Given the description of an element on the screen output the (x, y) to click on. 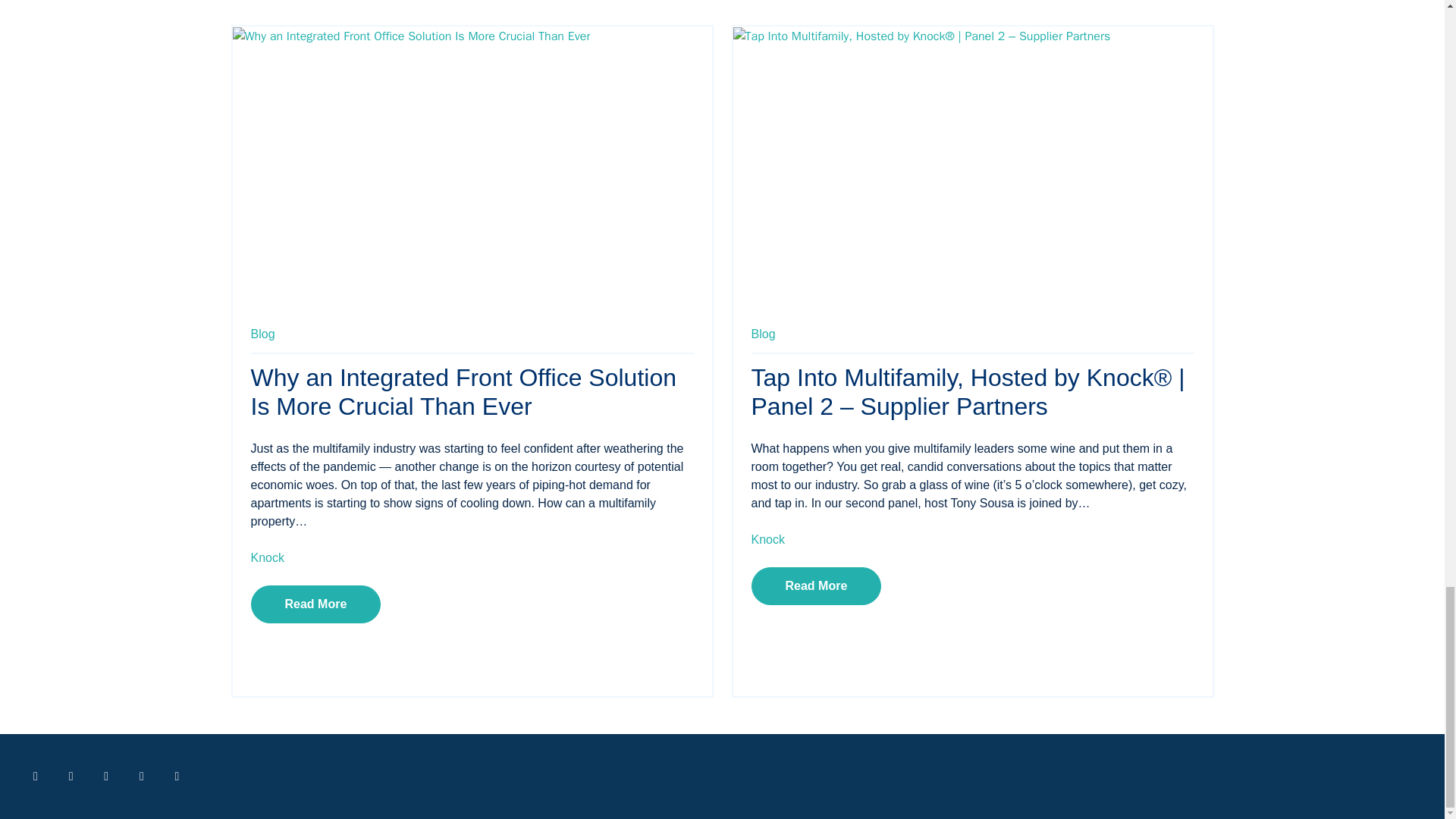
Blog (262, 333)
Blog (762, 333)
Knock (266, 557)
Blog (262, 333)
Read More (315, 604)
Read More (815, 586)
Blog (762, 333)
